Given the description of an element on the screen output the (x, y) to click on. 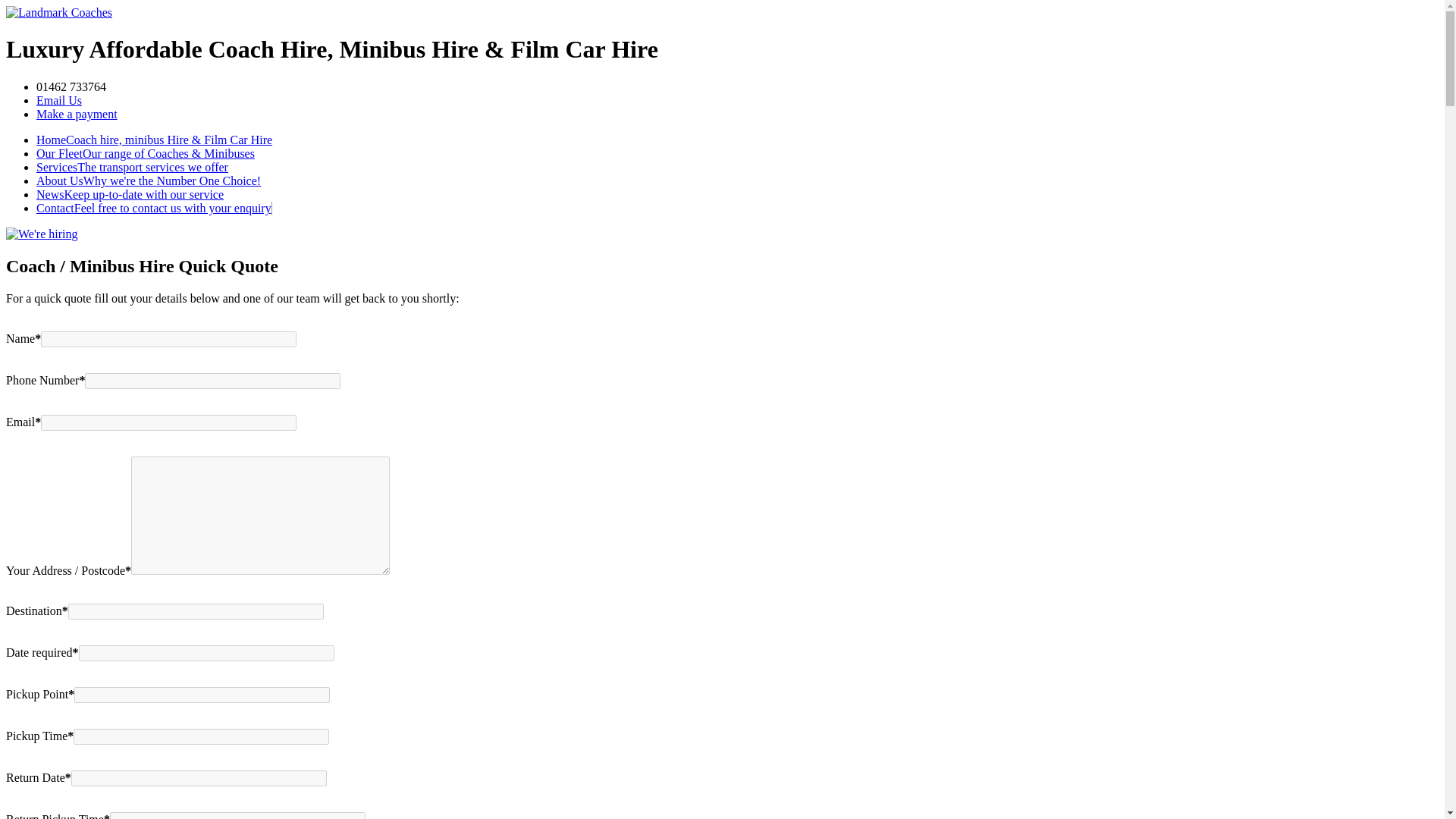
We're hiring (41, 233)
What We Do (132, 166)
About (148, 180)
ServicesThe transport services we offer (132, 166)
Vehicles Available For Hire (145, 153)
Landmark Coaches (58, 12)
ContactFeel free to contact us with your enquiry (154, 207)
Make a payment (76, 113)
Contact (154, 207)
NewsKeep up-to-date with our service (130, 194)
Latest News (130, 194)
Email Us (58, 100)
About UsWhy we're the Number One Choice! (148, 180)
Make a payment (76, 113)
Email (58, 100)
